Given the description of an element on the screen output the (x, y) to click on. 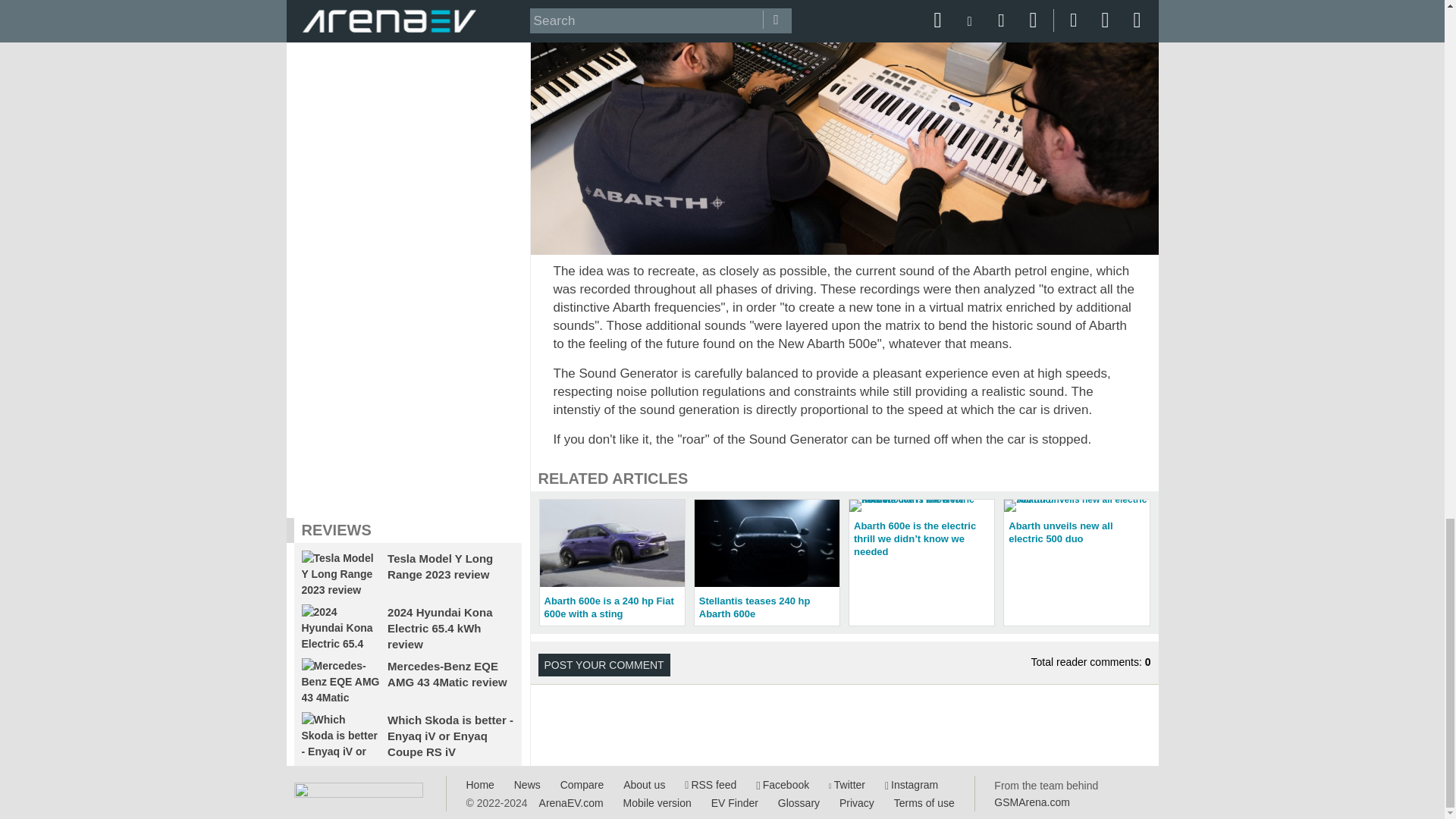
Stellantis teases 240 hp Abarth 600e (767, 562)
Abarth unveils new all electric 500 duo (1076, 524)
Abarth 600e is a 240 hp Fiat 600e with a sting (612, 562)
POST YOUR COMMENT (603, 664)
